Given the description of an element on the screen output the (x, y) to click on. 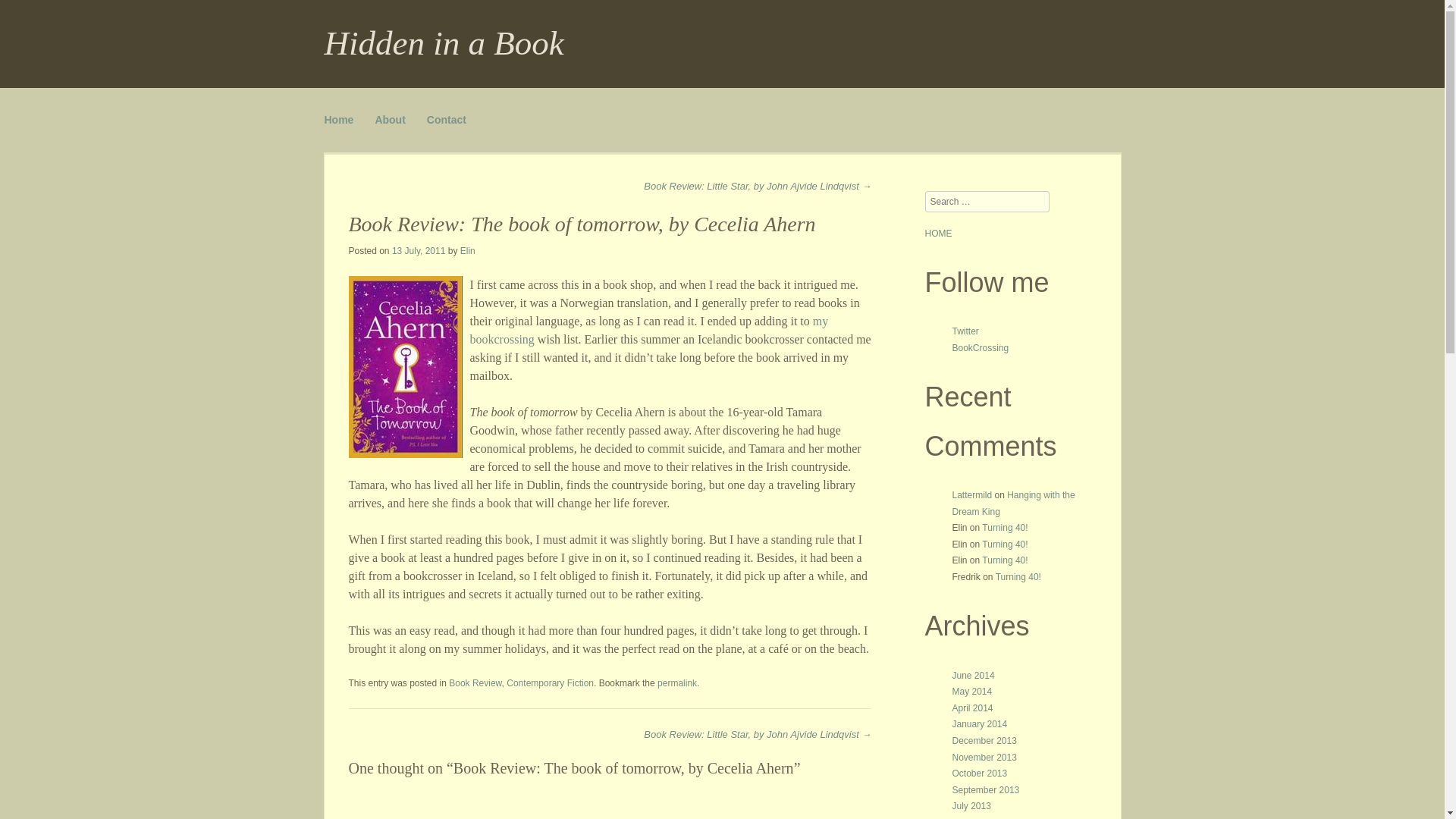
Skip to content (362, 114)
BookCrossing (980, 347)
January 2014 (979, 724)
Twitter (965, 330)
19:23 (418, 250)
May 2014 (972, 691)
Elin (468, 250)
Turning 40! (1018, 576)
Turning 40! (1004, 543)
View all posts by Elin (468, 250)
Hidden in a Book (444, 43)
April 2013 (972, 818)
Hidden in a Book (444, 43)
July 2013 (971, 805)
Turning 40! (1004, 560)
